Given the description of an element on the screen output the (x, y) to click on. 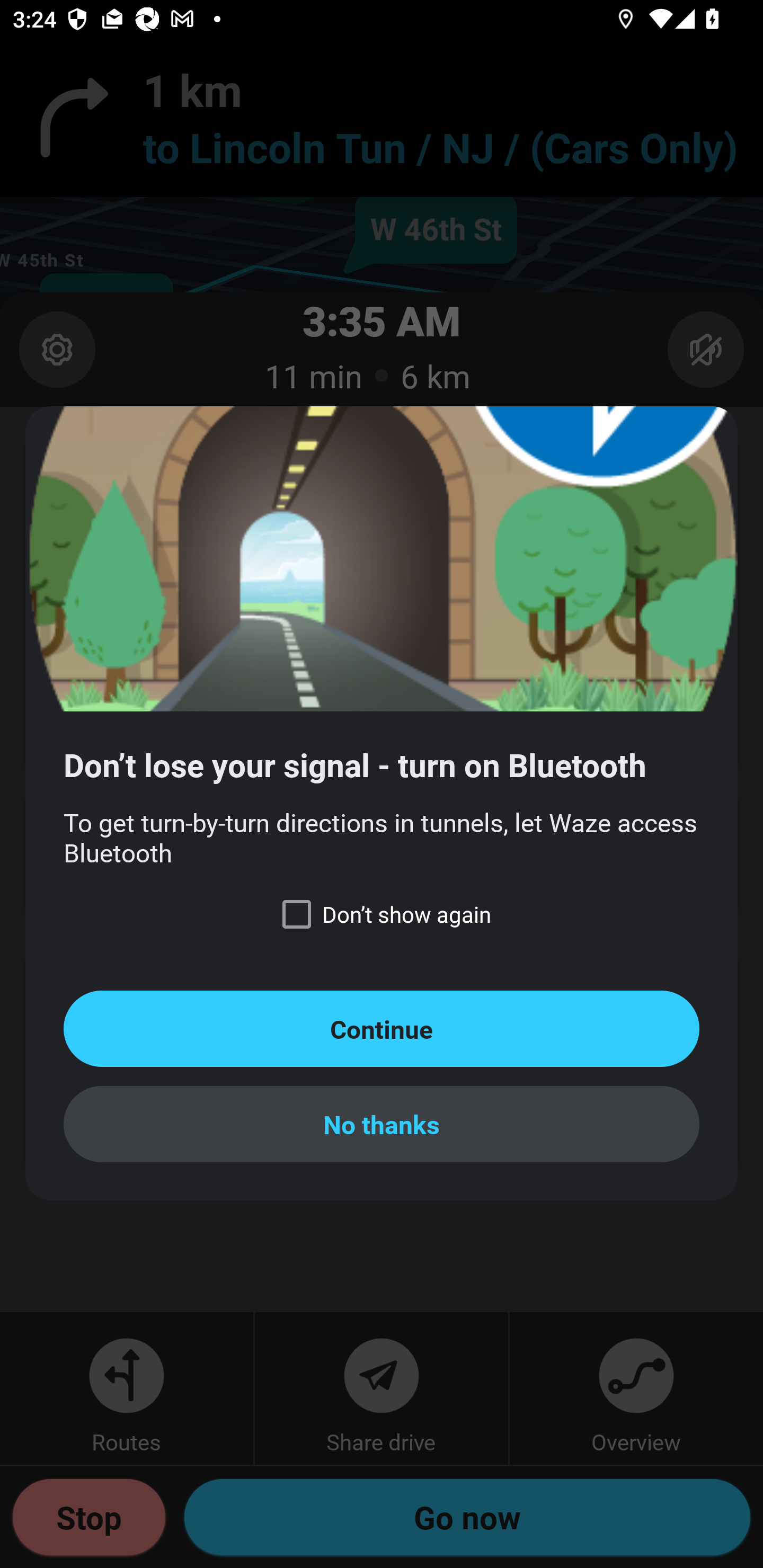
Don’t show again (381, 913)
Continue (381, 1028)
No thanks (381, 1123)
